Given the description of an element on the screen output the (x, y) to click on. 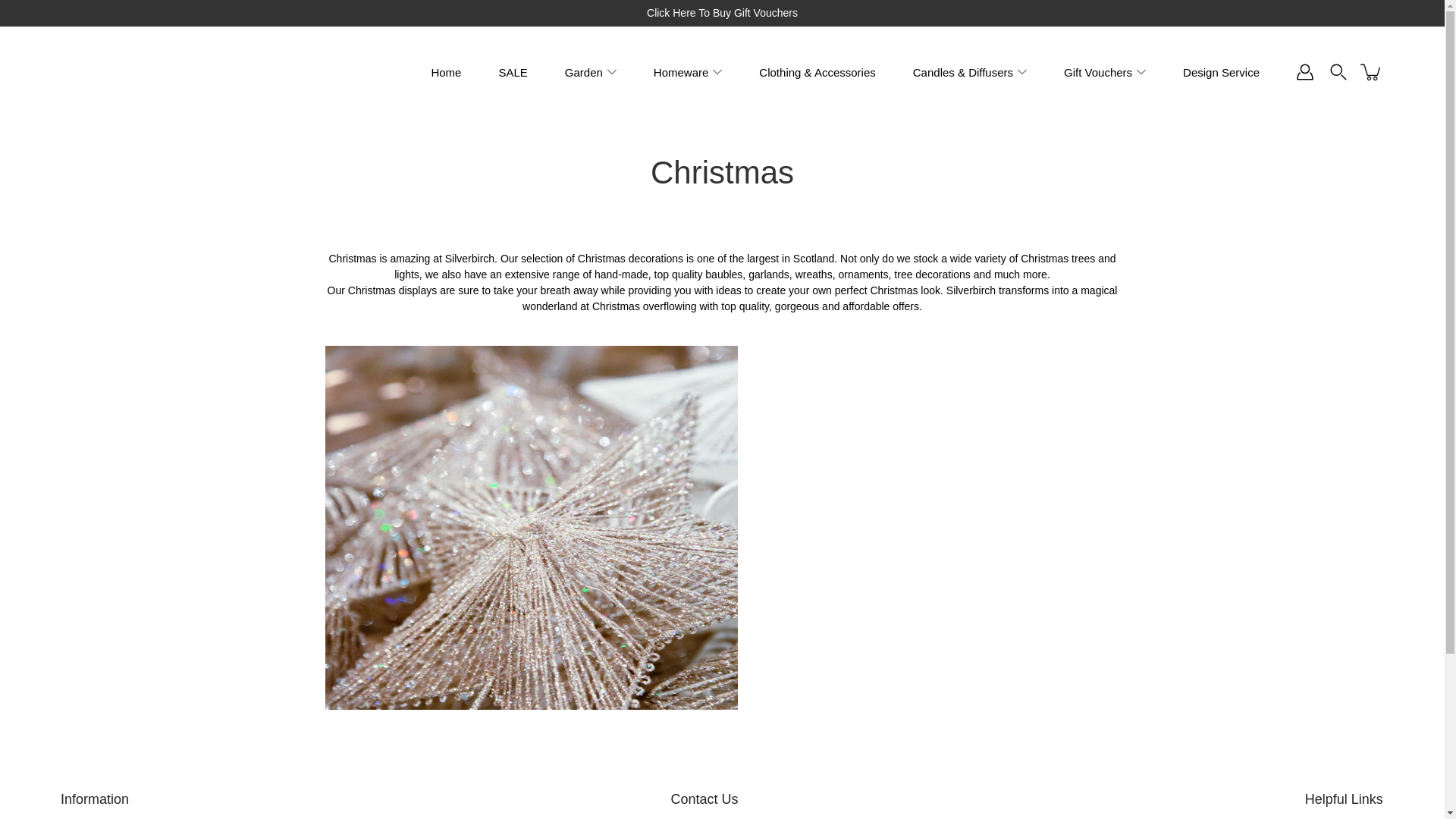
Click Here To Buy Gift Vouchers (721, 12)
Home (445, 71)
Design Service (1220, 71)
Garden (583, 71)
SALE (512, 71)
Homeware (681, 71)
Gift Vouchers (1098, 71)
